Given the description of an element on the screen output the (x, y) to click on. 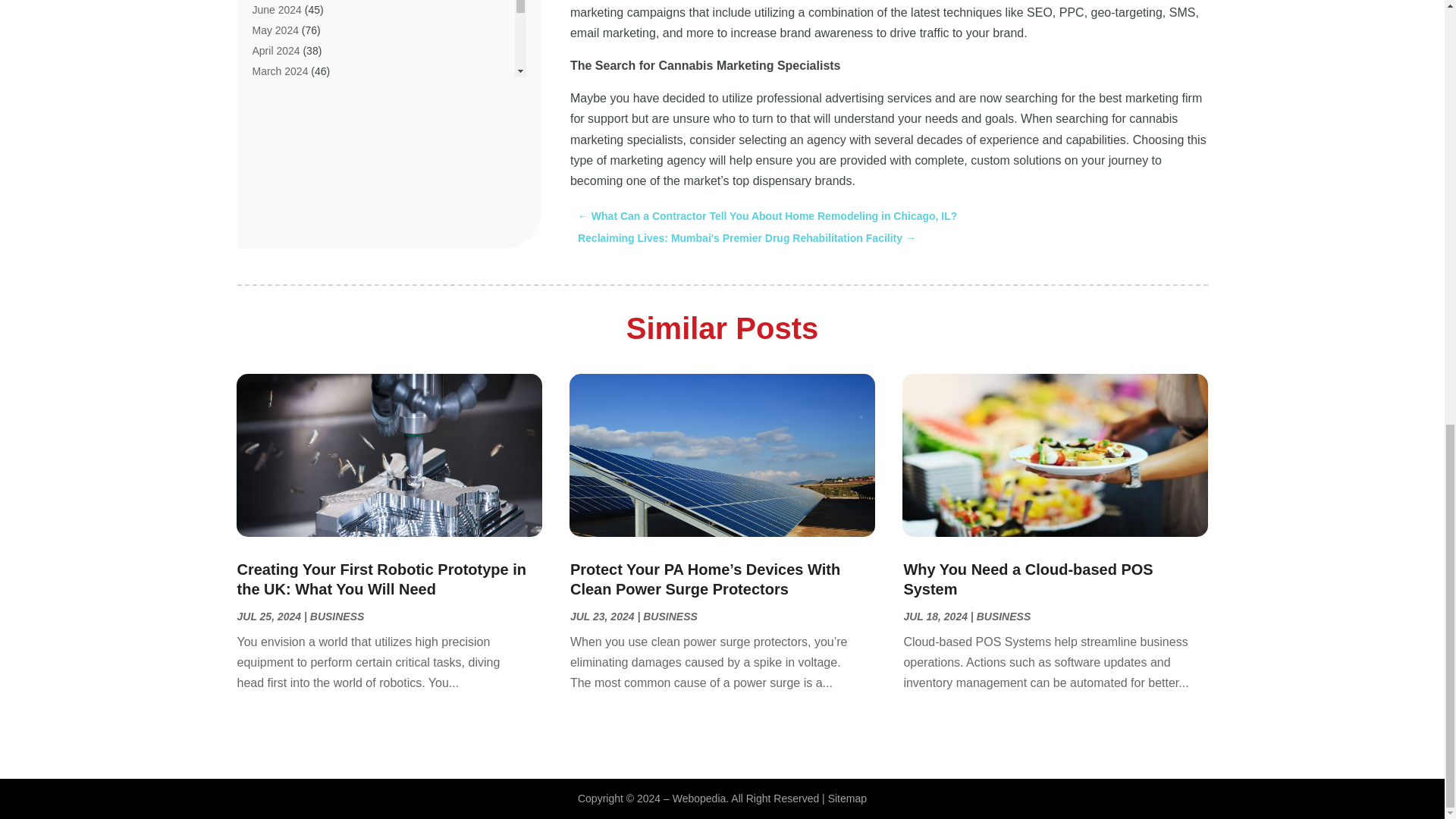
Aluminum (274, 239)
Air Distribution (285, 95)
Alarm Systems (287, 198)
Animal Hospital (287, 301)
Aluminum Supplier (295, 259)
Aesthetics (276, 12)
Air Quality Control System (313, 136)
Airport Shuttle Service (303, 177)
Agricultural Service (297, 33)
Aircraft Cargo Loaders (304, 156)
Agriculture And Forestry (308, 53)
Aluminium (276, 218)
Air Duct Cleaning (292, 115)
Animal Removal (290, 322)
Air Conditioning Repair Service (324, 74)
